Given the description of an element on the screen output the (x, y) to click on. 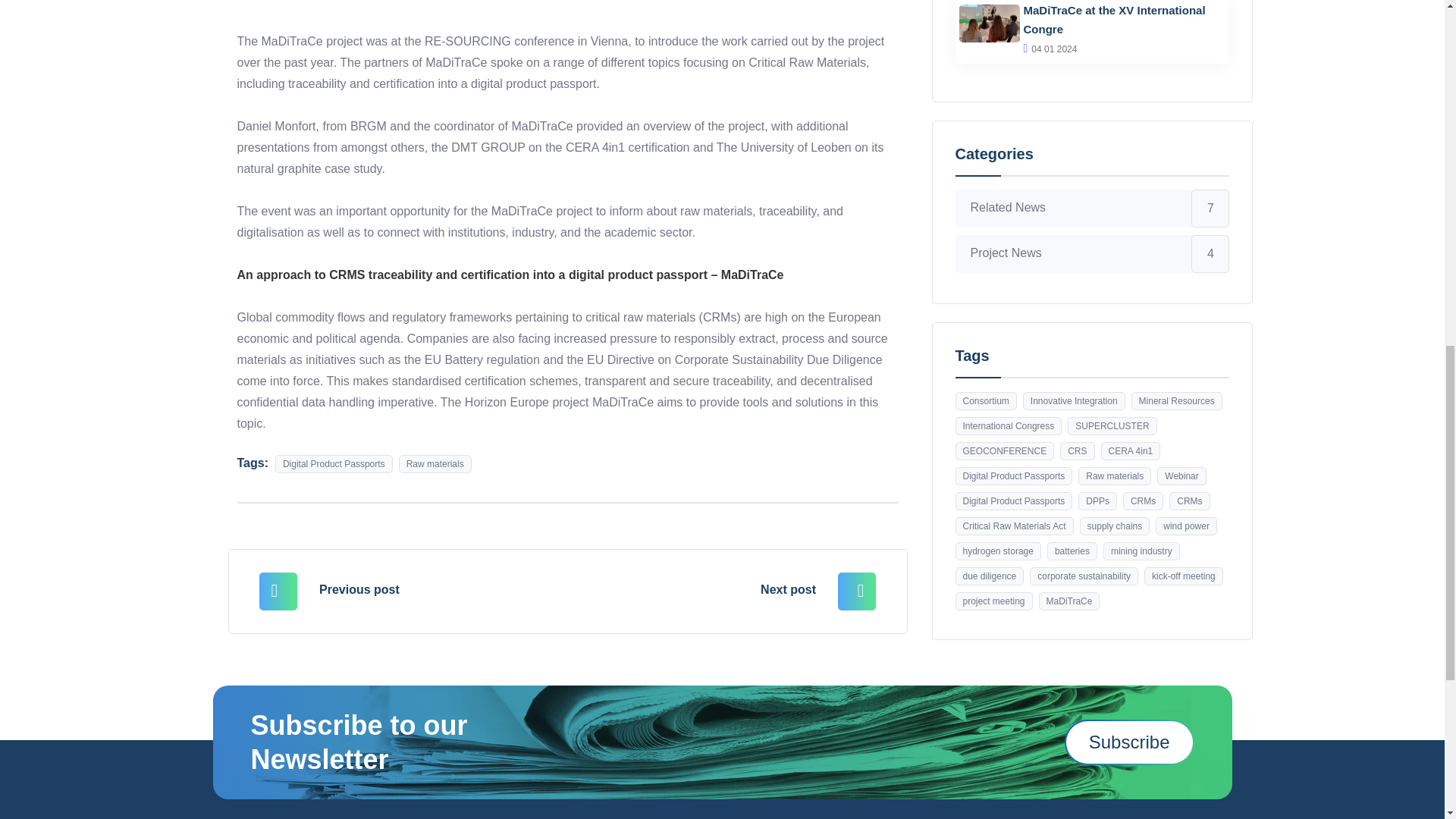
Previous post (435, 588)
Subscribe (1128, 741)
Next post (699, 588)
